Given the description of an element on the screen output the (x, y) to click on. 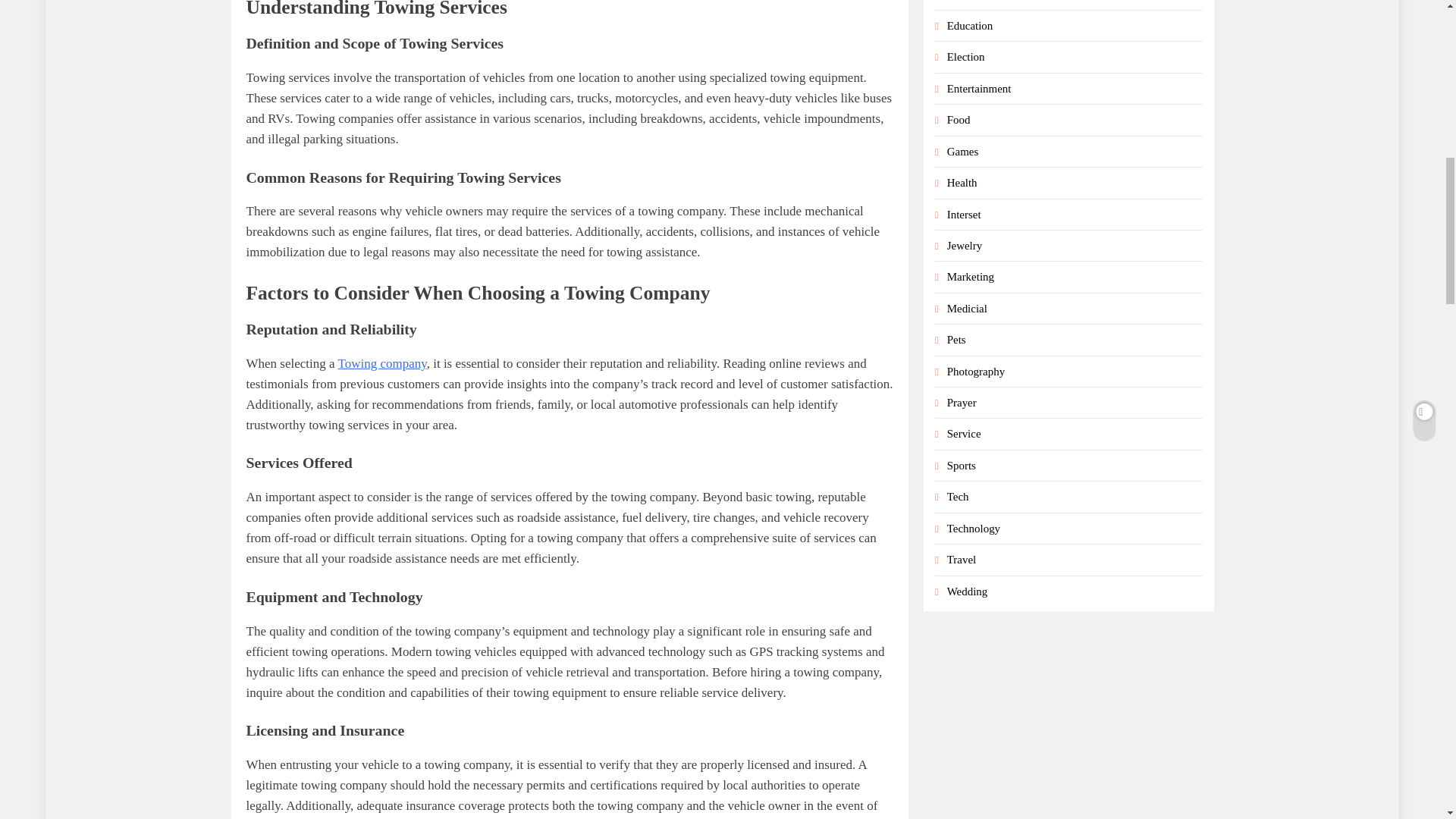
Towing company (381, 363)
